Given the description of an element on the screen output the (x, y) to click on. 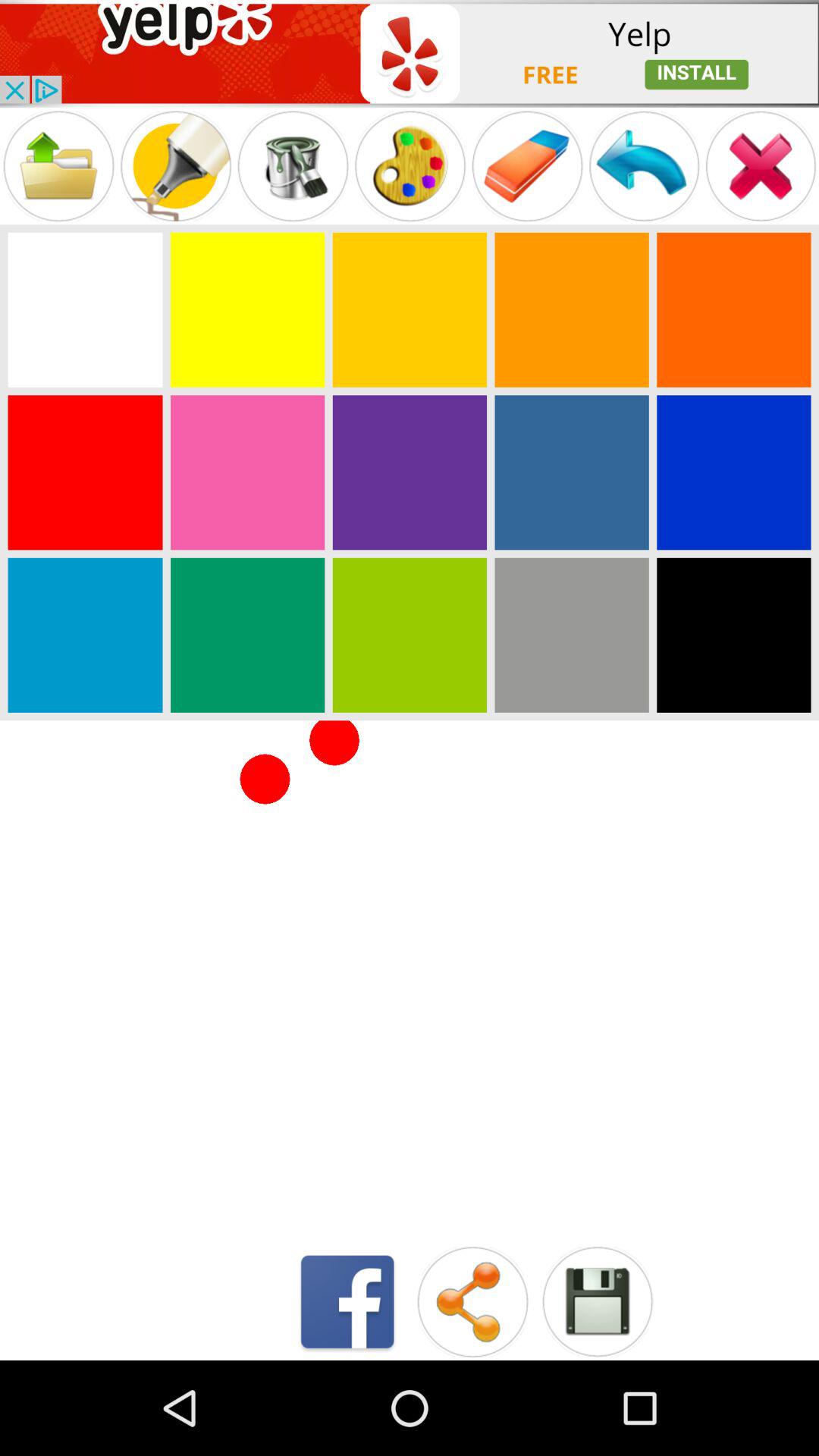
go to advertisement source (409, 53)
